Given the description of an element on the screen output the (x, y) to click on. 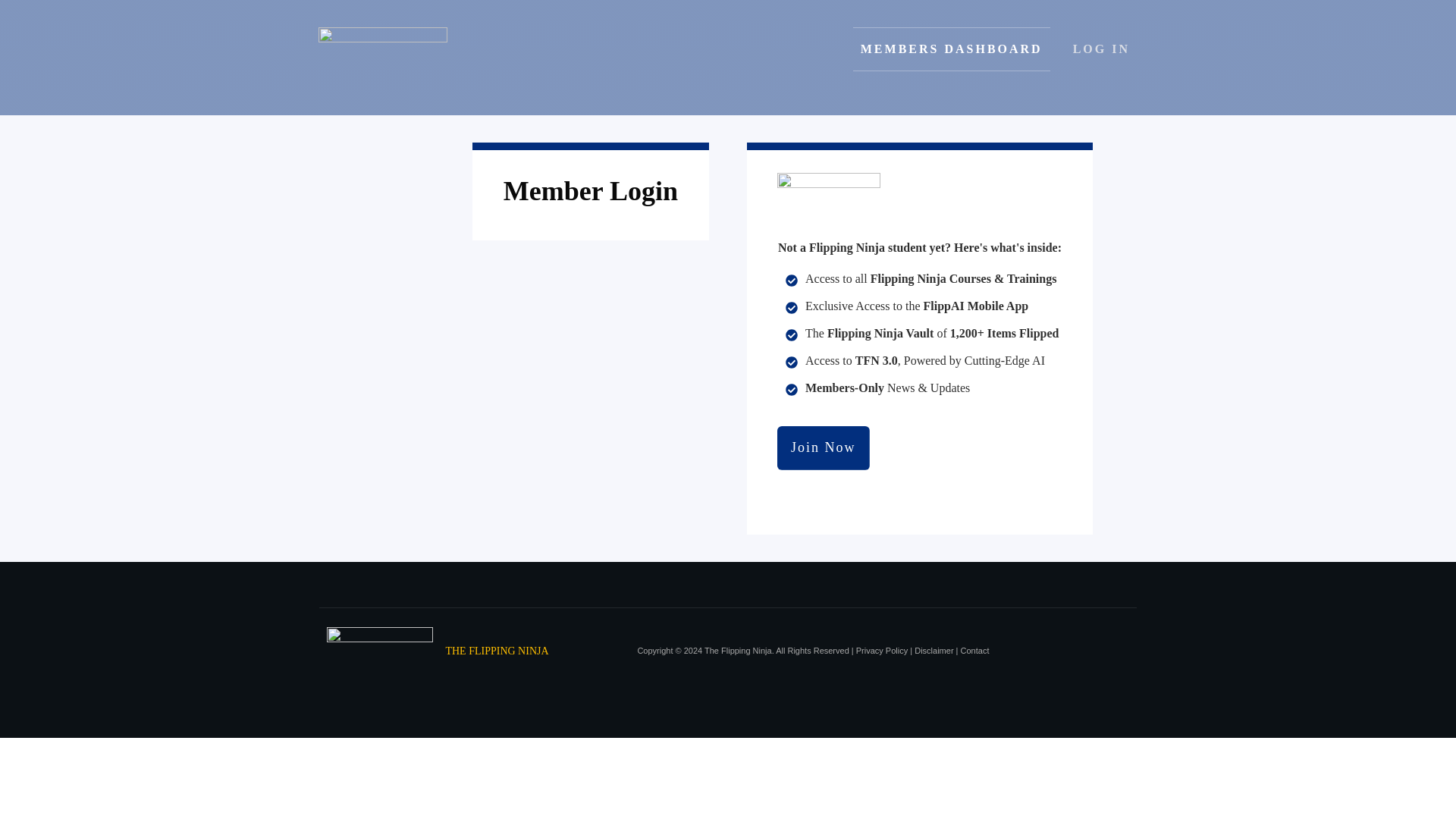
Privacy Policy (881, 650)
Logo 1 black (828, 194)
Disclaimer (933, 650)
Contact (975, 650)
Join Now (823, 447)
MEMBERS DASHBOARD (951, 48)
LOG IN (1101, 48)
